Given the description of an element on the screen output the (x, y) to click on. 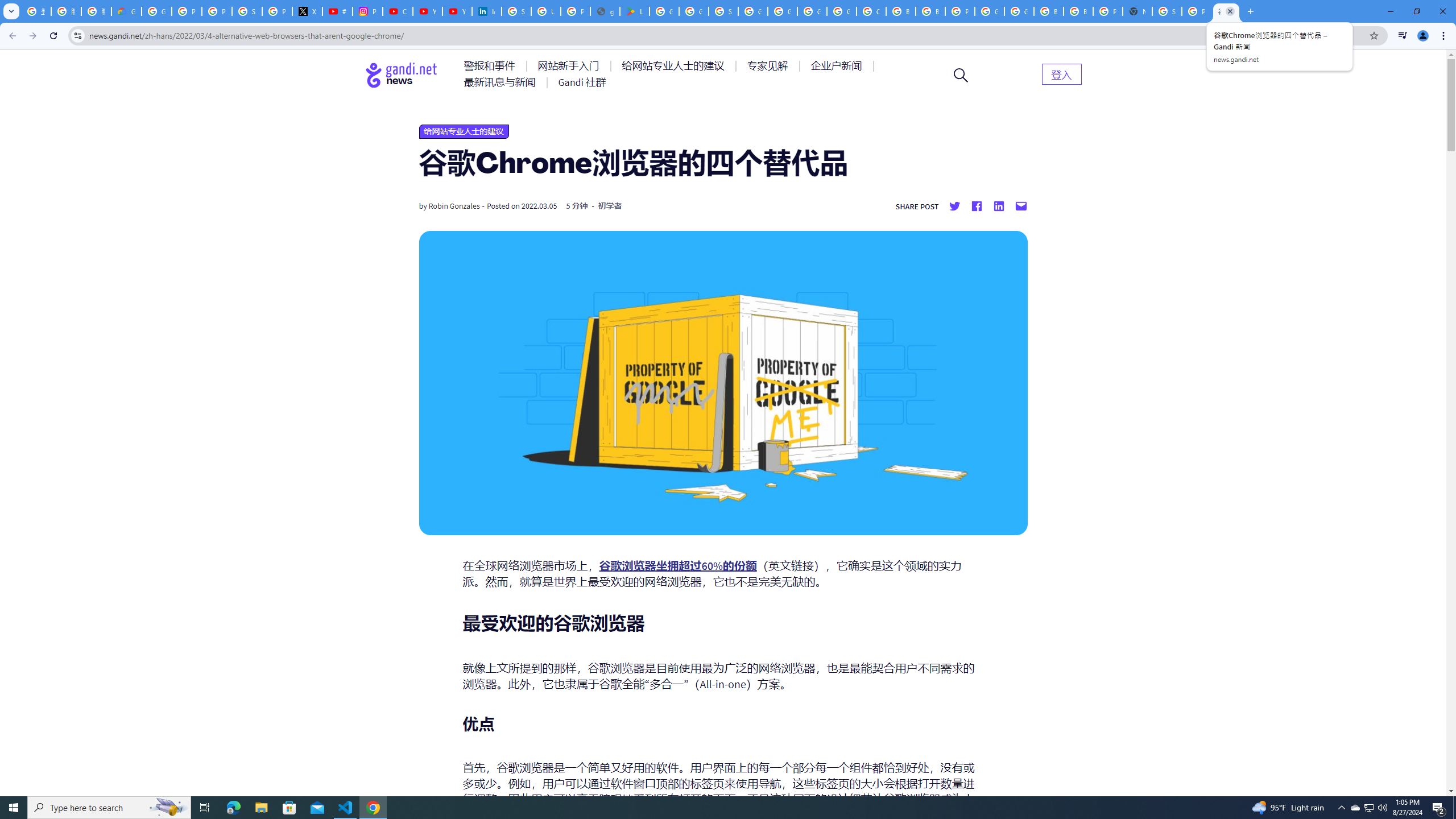
Share on twitter (953, 205)
YouTube Culture & Trends - YouTube Top 10, 2021 (456, 11)
Browse Chrome as a guest - Computer - Google Chrome Help (900, 11)
#nbabasketballhighlights - YouTube (337, 11)
Share on facebook (975, 205)
